Given the description of an element on the screen output the (x, y) to click on. 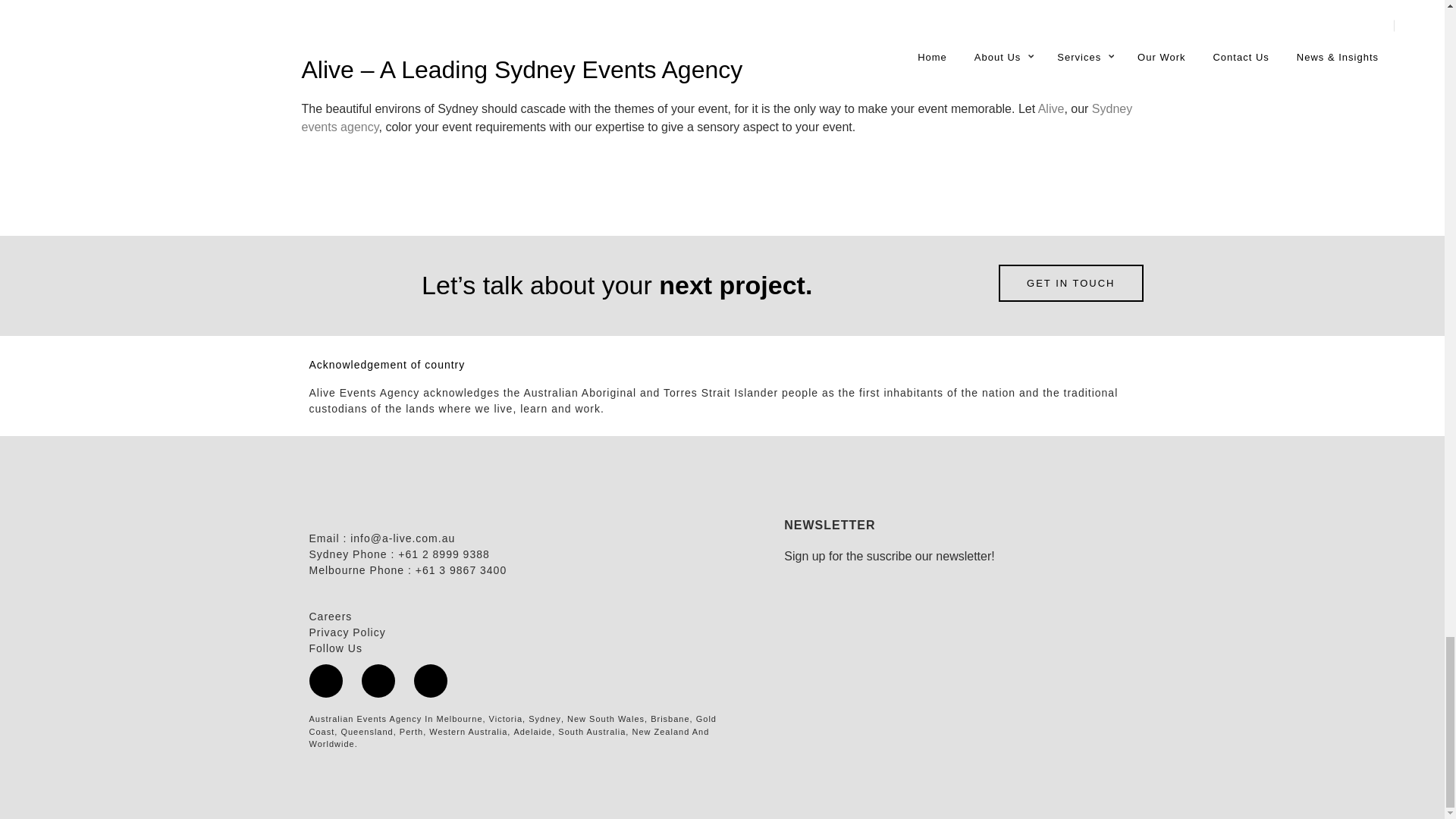
Careers (330, 616)
Sydney events agency (716, 117)
Alive (1051, 108)
Privacy Policy (346, 632)
GET IN TOUCH (1070, 283)
